Given the description of an element on the screen output the (x, y) to click on. 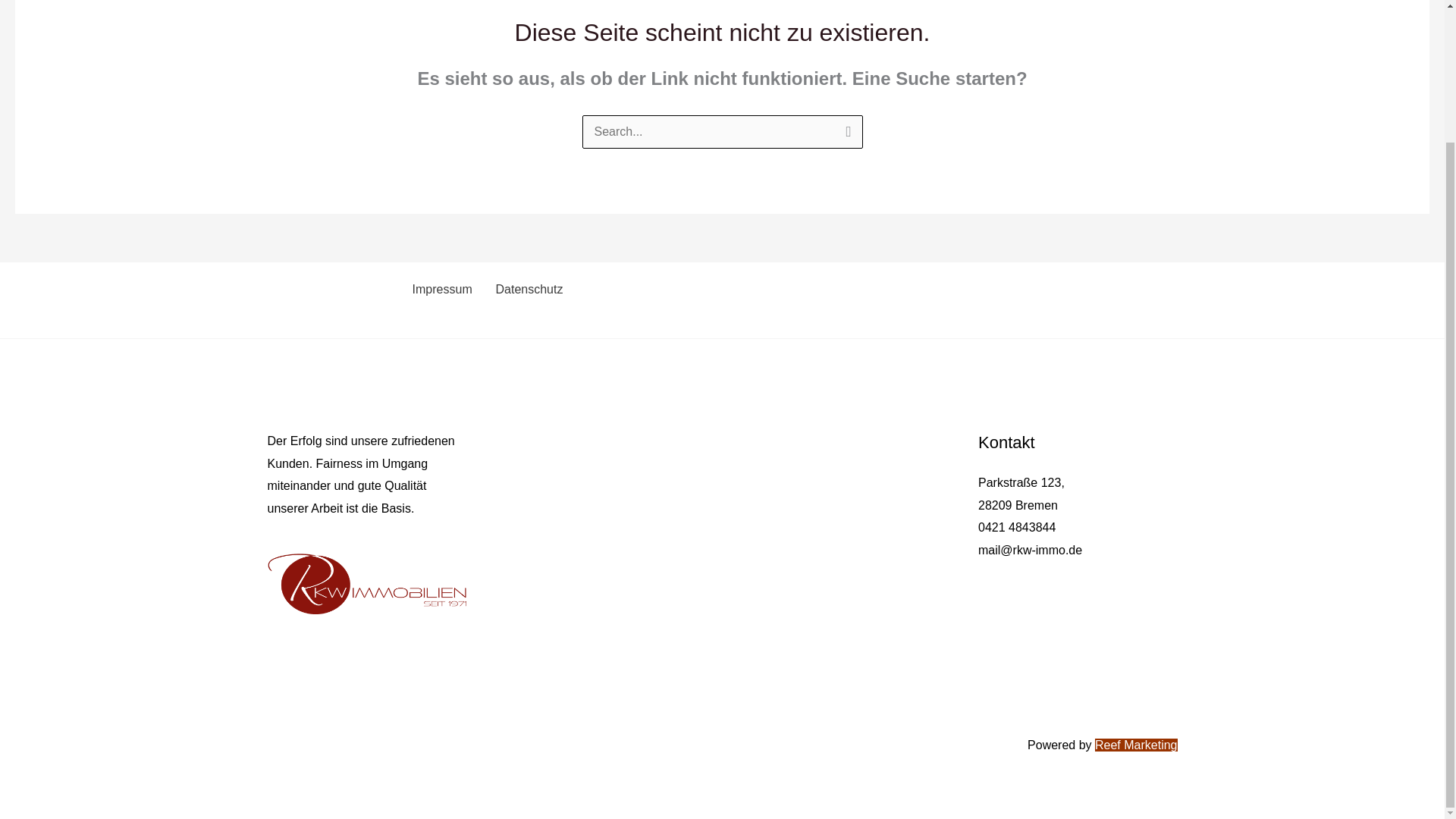
0421 4843844 (1016, 526)
Reef Marketing (1135, 744)
Datenschutz (526, 289)
28209 Bremen (1018, 504)
Impressum (440, 289)
